Given the description of an element on the screen output the (x, y) to click on. 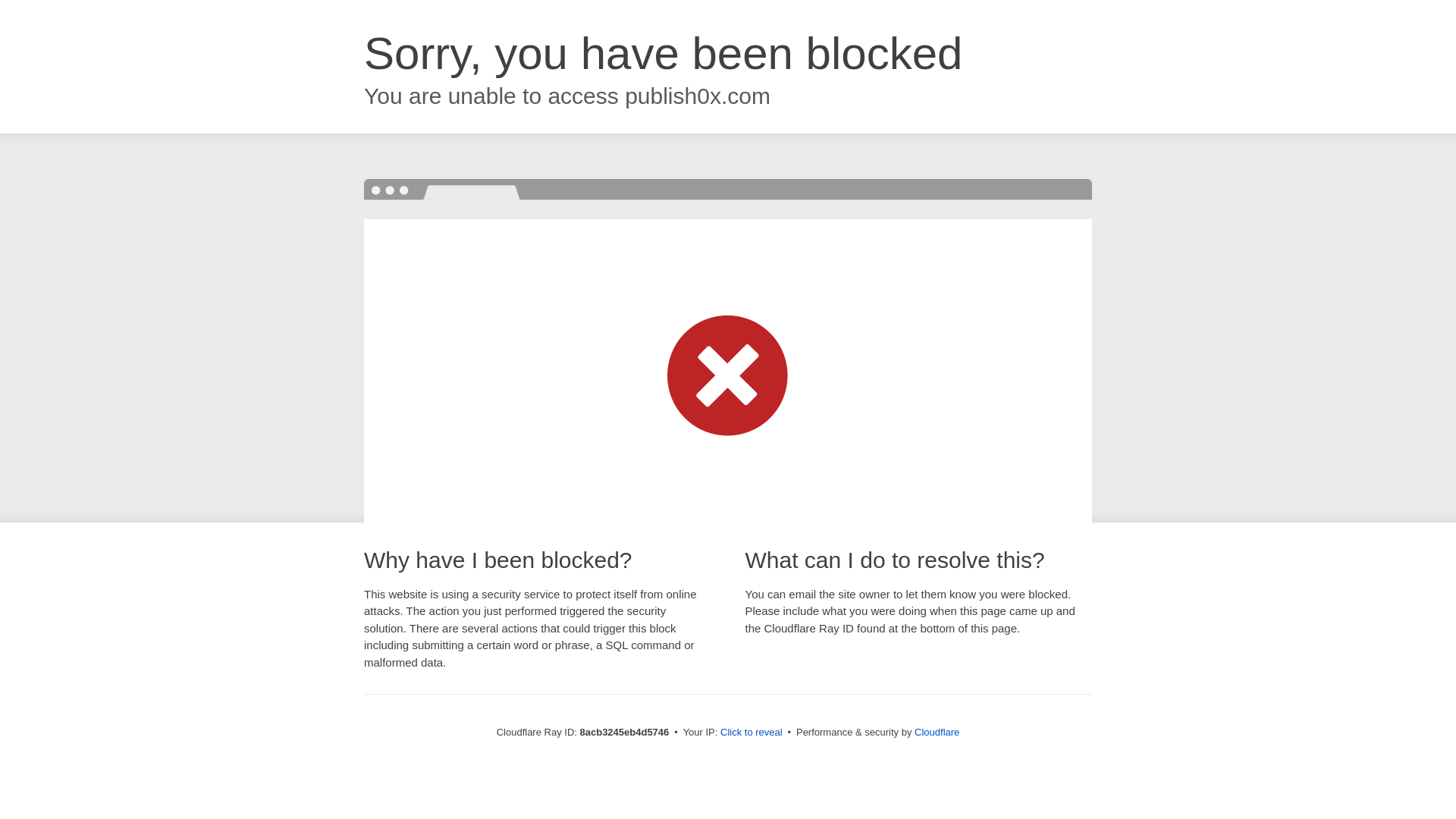
Click to reveal (751, 732)
Cloudflare (936, 731)
